Given the description of an element on the screen output the (x, y) to click on. 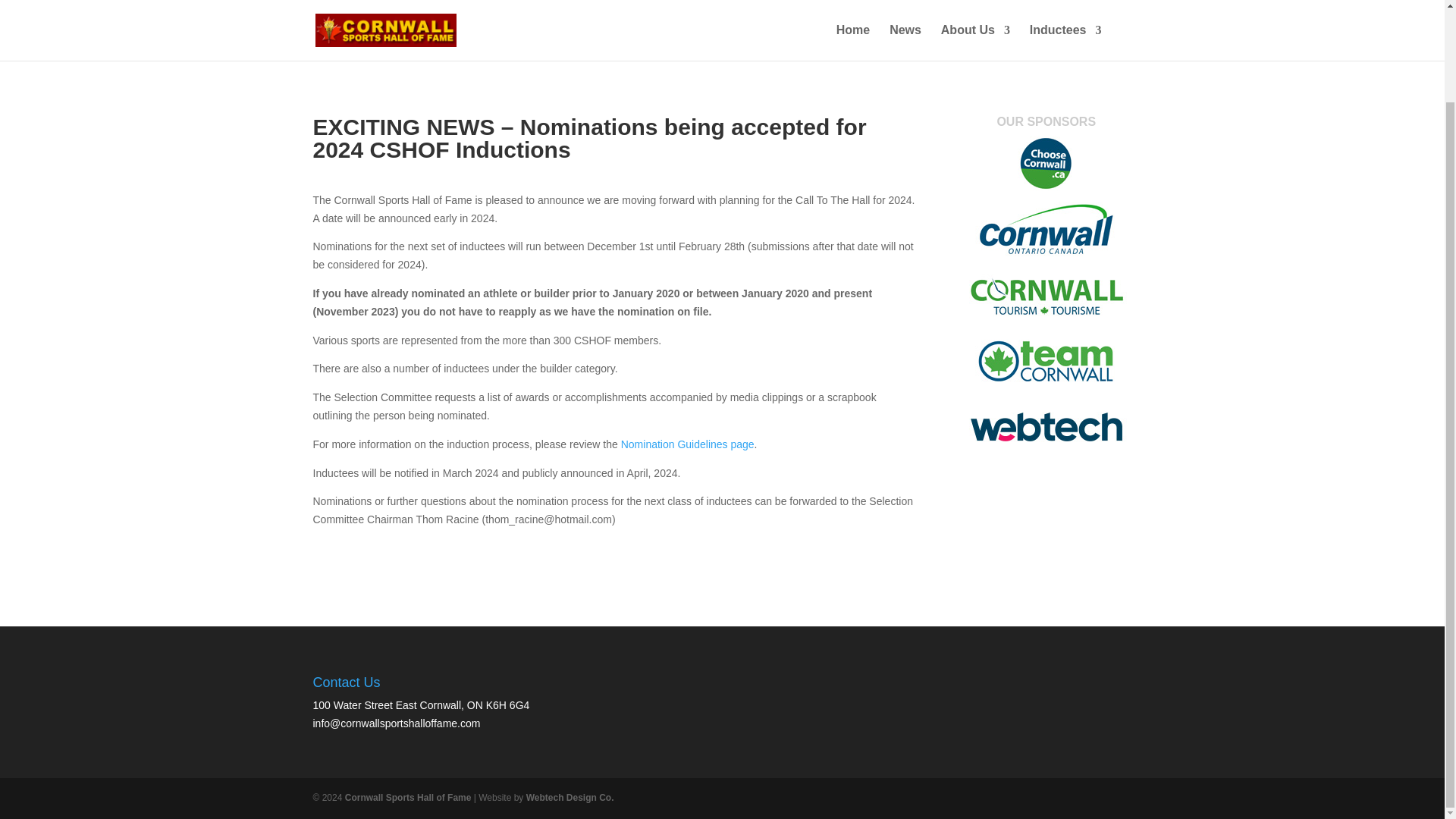
Webtech Design Co. (569, 797)
Home (326, 1)
